Given the description of an element on the screen output the (x, y) to click on. 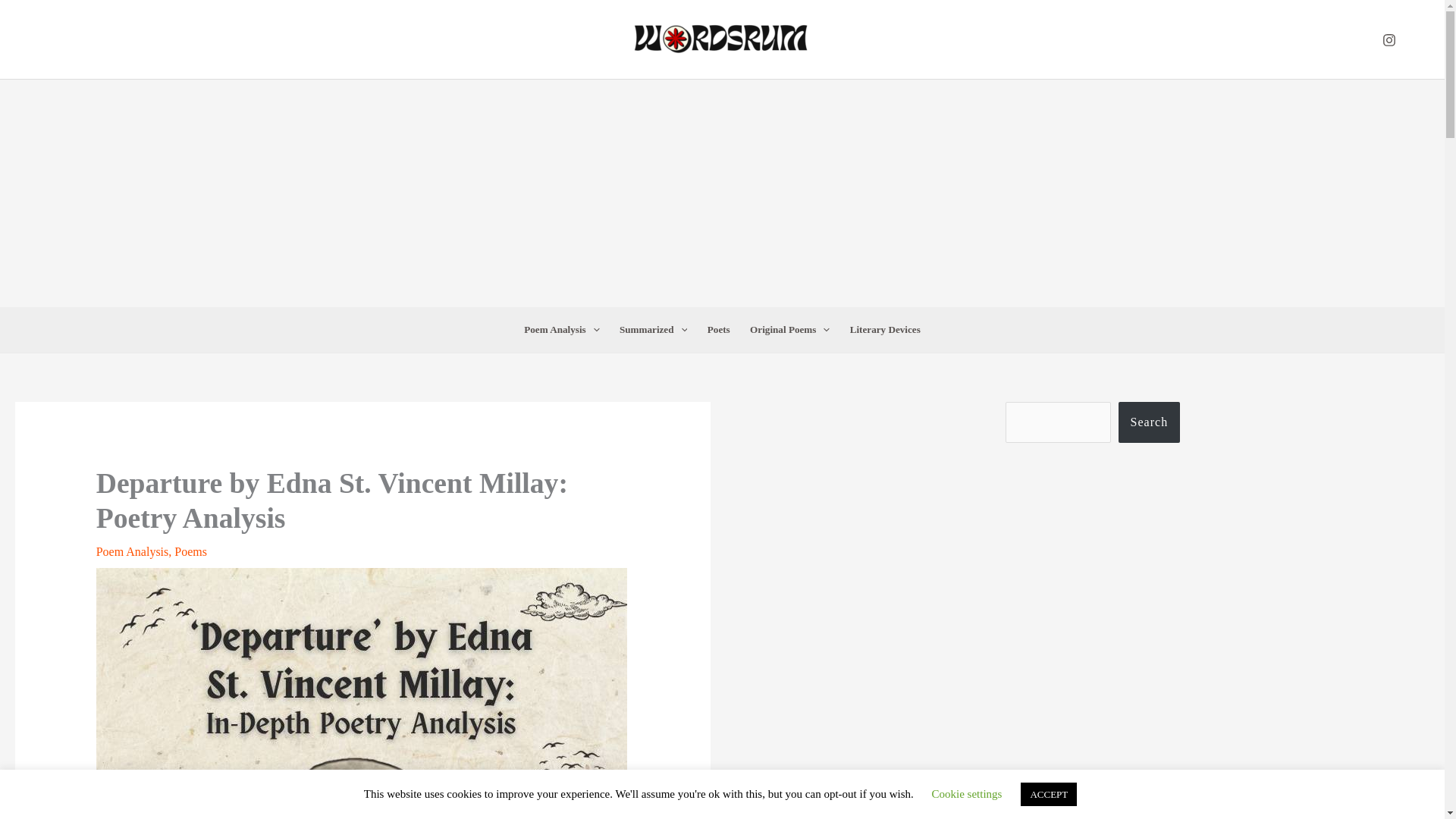
Summarized (653, 329)
Poems (190, 551)
Search (1149, 422)
Poem Analysis (132, 551)
Poets (718, 329)
Original Poems (789, 329)
Poem Analysis (561, 329)
Literary Devices (885, 329)
